Given the description of an element on the screen output the (x, y) to click on. 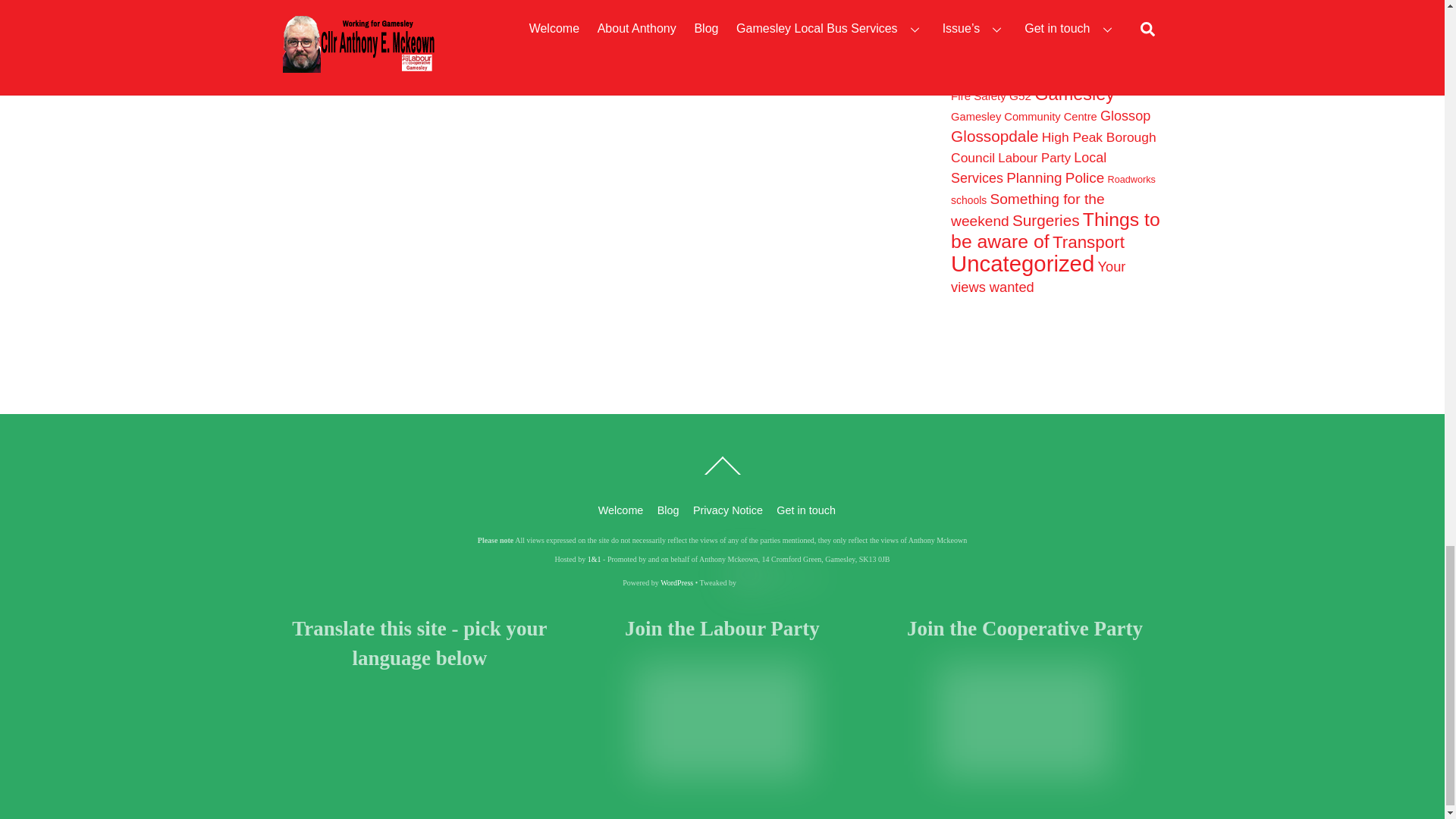
Join the Labour Party (721, 716)
Join the Cooperative Party (1024, 716)
